Given the description of an element on the screen output the (x, y) to click on. 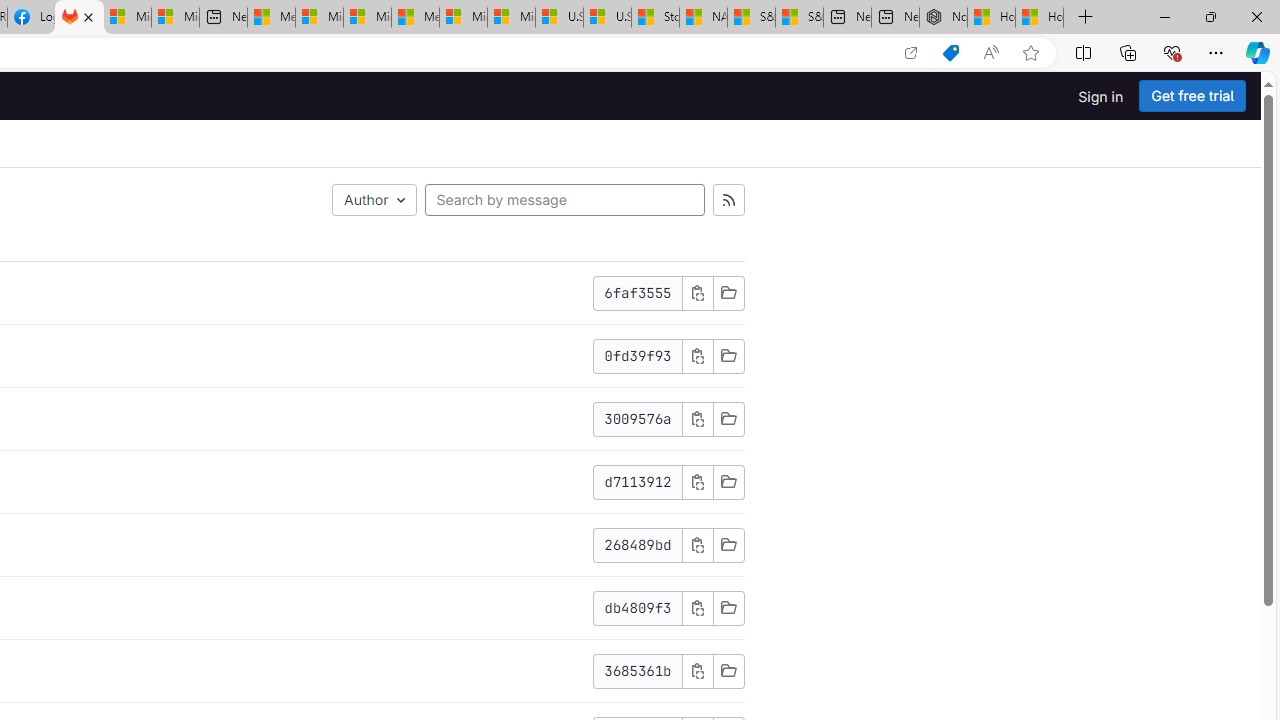
Class: s16 gl-icon gl-button-icon  (697, 670)
Class: s16 (728, 670)
Search by message (564, 200)
Get free trial (1192, 95)
How to Use a Monitor With Your Closed Laptop (1039, 17)
S&P 500, Nasdaq end lower, weighed by Nvidia dip | Watch (799, 17)
